Given the description of an element on the screen output the (x, y) to click on. 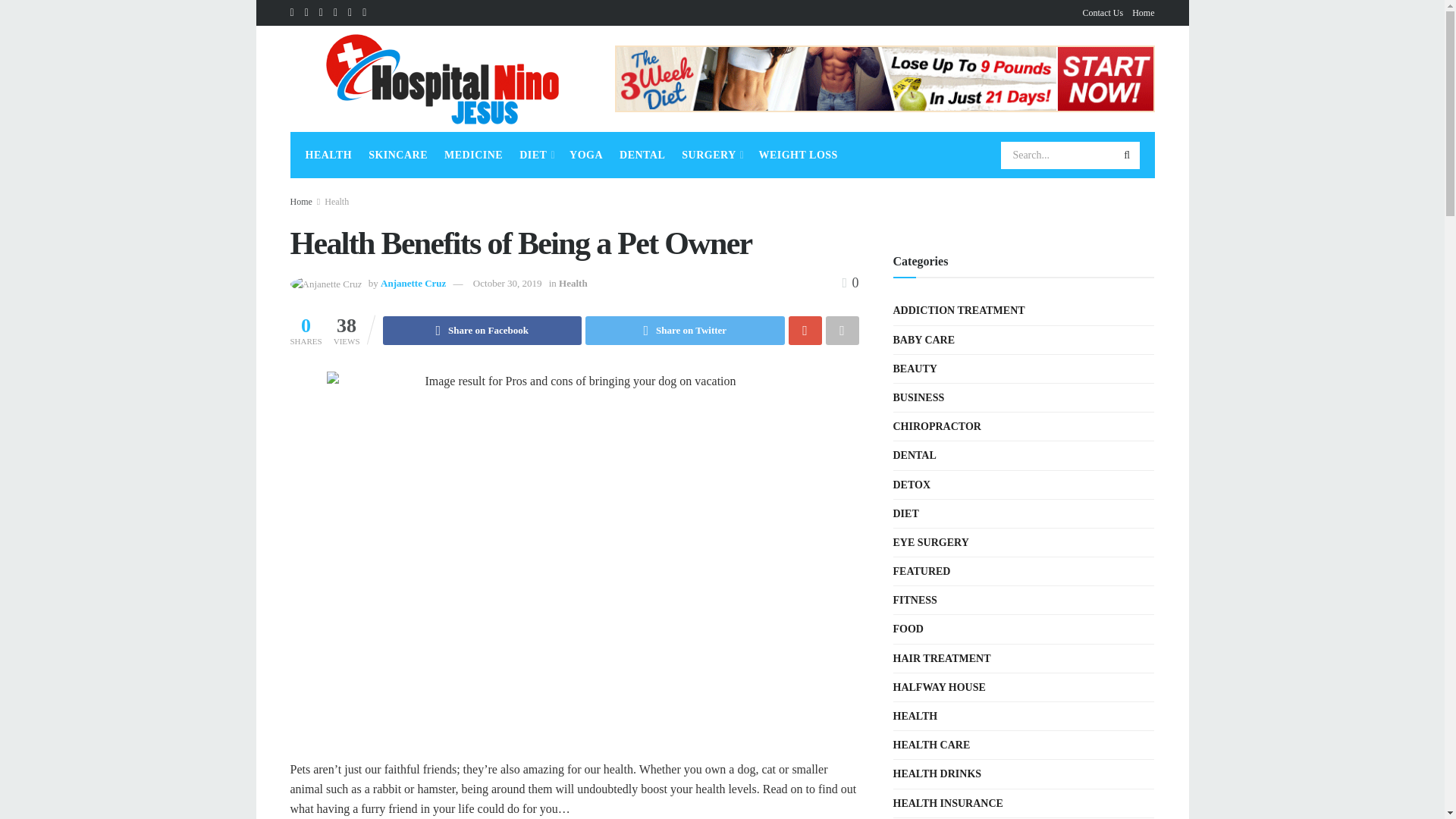
October 30, 2019 (507, 283)
HEALTH (328, 155)
SURGERY (711, 155)
Home (300, 201)
Share on Facebook (482, 330)
DENTAL (642, 155)
Health (573, 283)
Health (336, 201)
DIET (536, 155)
Anjanette Cruz (412, 283)
